Given the description of an element on the screen output the (x, y) to click on. 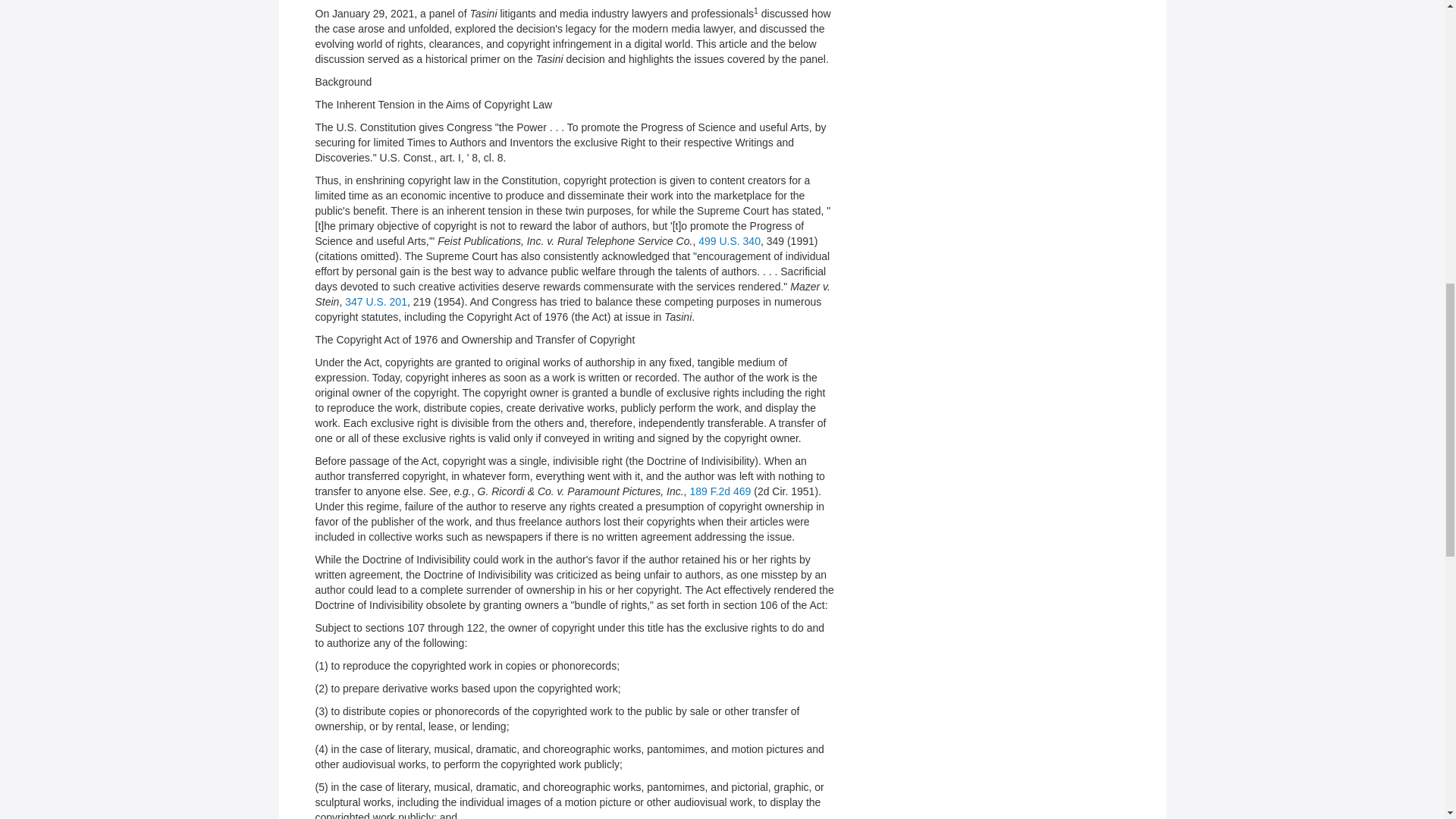
499 U.S. 340 (729, 241)
347 U.S. 201 (376, 301)
189 F.2d 469 (719, 491)
